Given the description of an element on the screen output the (x, y) to click on. 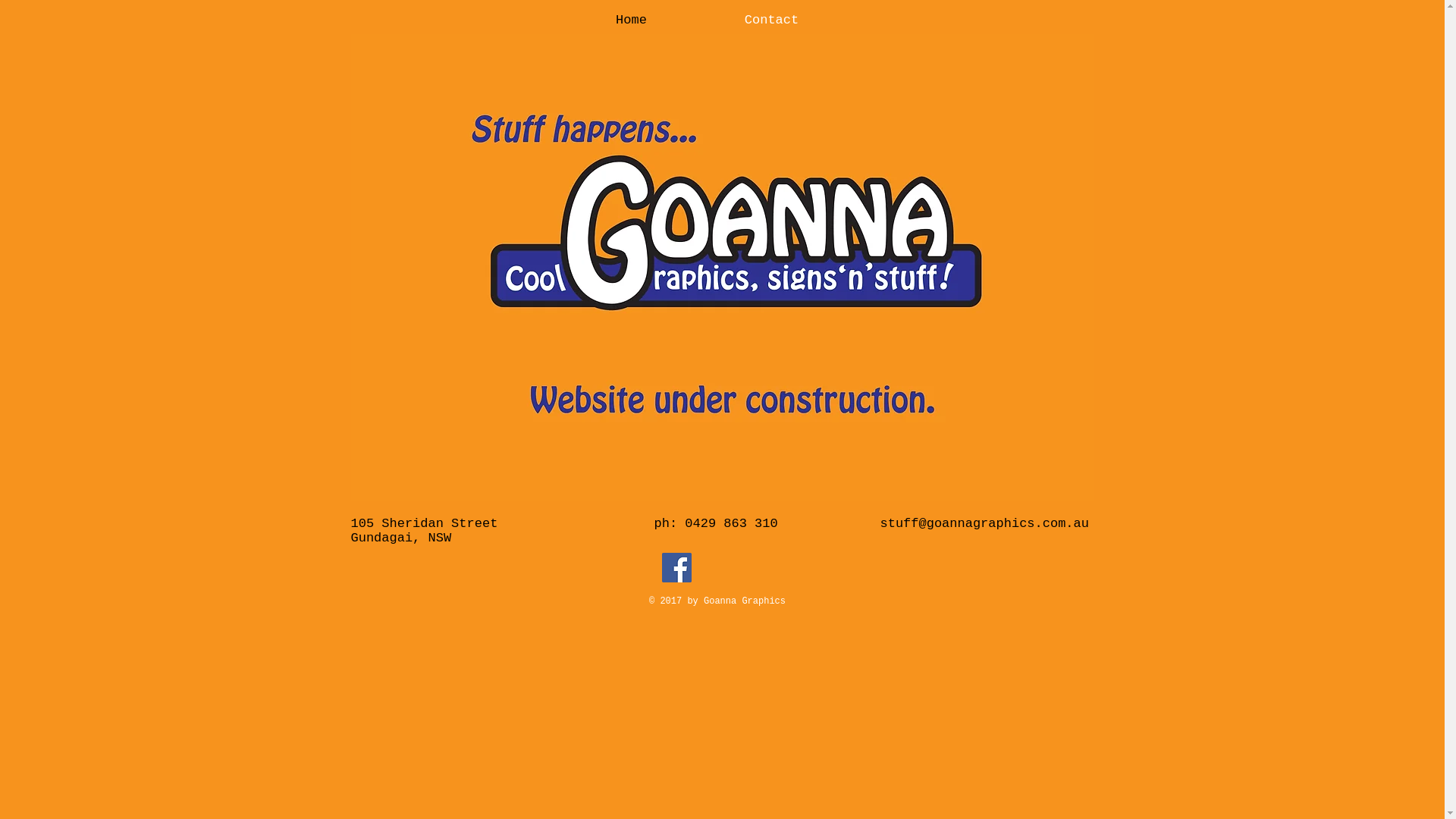
stuff@goannagraphics.com.au Element type: text (983, 523)
Home Element type: text (631, 17)
Contact Element type: text (771, 17)
Facebook Like Element type: hover (763, 567)
